Given the description of an element on the screen output the (x, y) to click on. 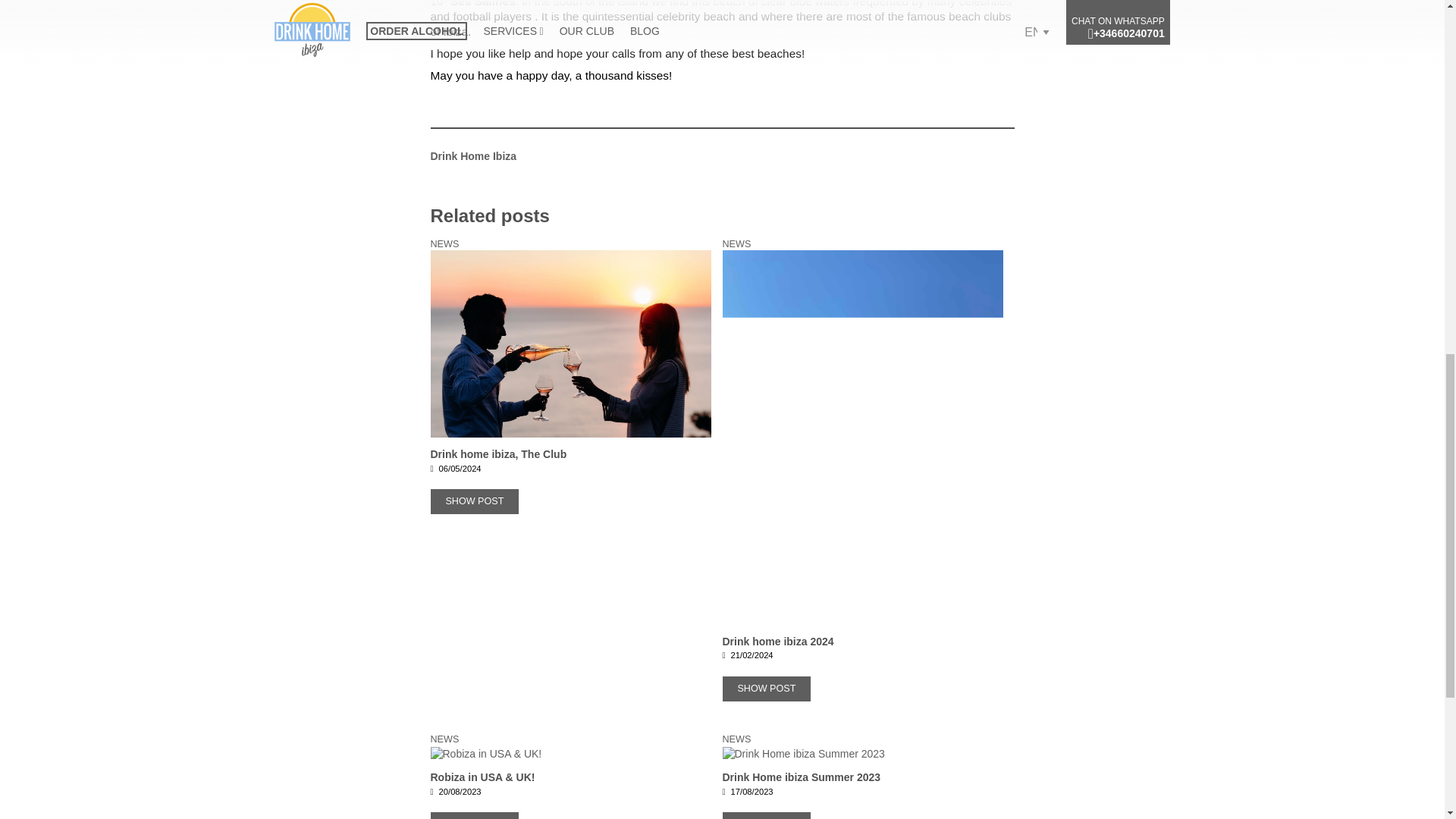
Drink home ibiza, The Club (570, 515)
NEWS (736, 738)
Drink Home ibiza Summer 2023 (862, 753)
Drink Home Ibiza (473, 155)
SHOW POST (766, 815)
NEWS (445, 738)
NEWS (736, 244)
SHOW POST (766, 688)
SHOW POST (474, 815)
Drink Home ibiza Summer 2023 (862, 795)
